Given the description of an element on the screen output the (x, y) to click on. 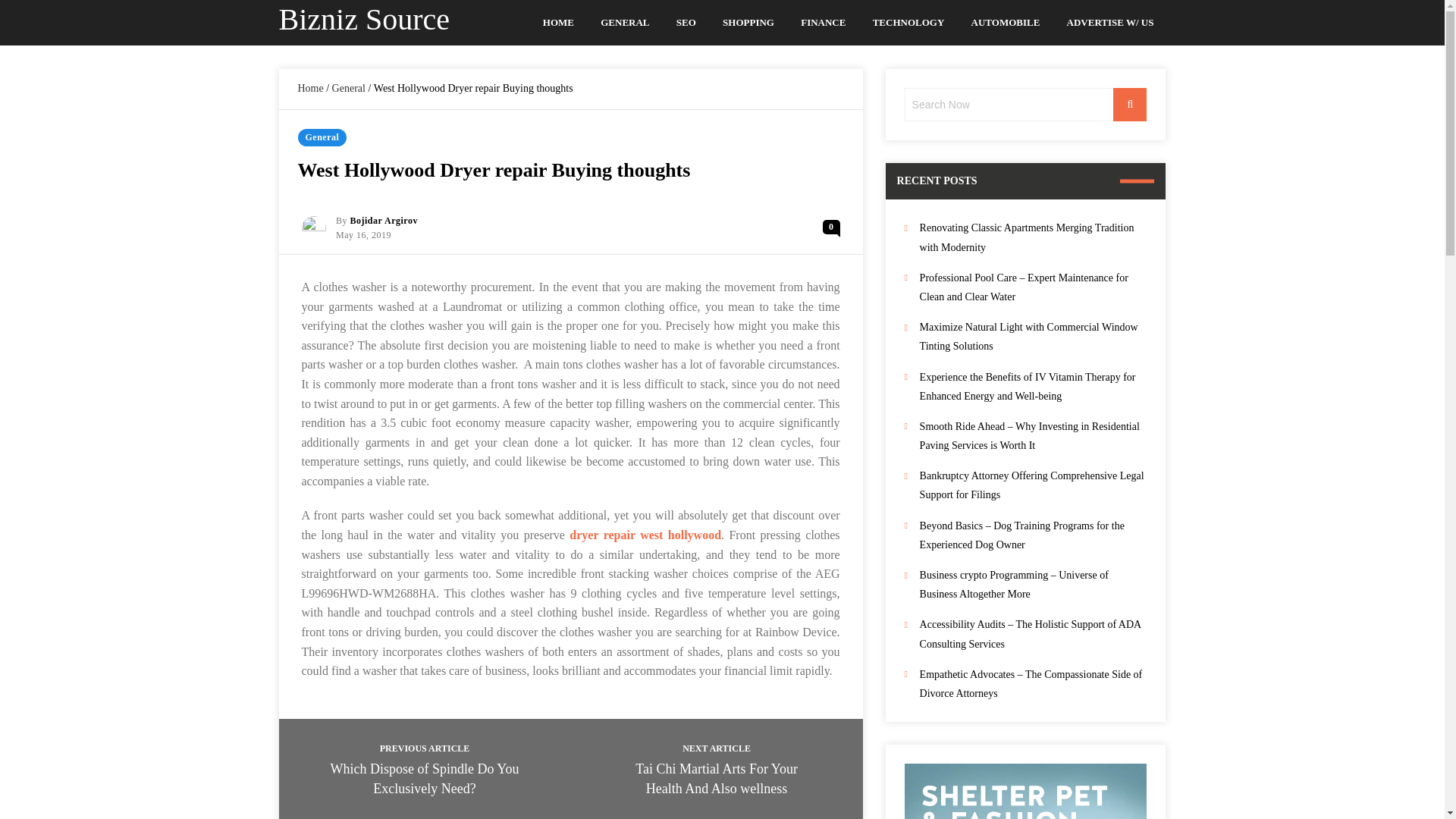
AUTOMOBILE (1005, 22)
Tai Chi Martial Arts For Your Health And Also wellness (715, 778)
GENERAL (624, 22)
dryer repair west hollywood (644, 534)
Bojidar Argirov (383, 220)
General (321, 137)
Home (310, 88)
Which Dispose of Spindle Do You Exclusively Need? (424, 778)
0 (831, 227)
FINANCE (823, 22)
View all posts in General (321, 137)
General (348, 88)
TECHNOLOGY (908, 22)
Posts by Bojidar Argirov (383, 220)
Bizniz Source (364, 19)
